Given the description of an element on the screen output the (x, y) to click on. 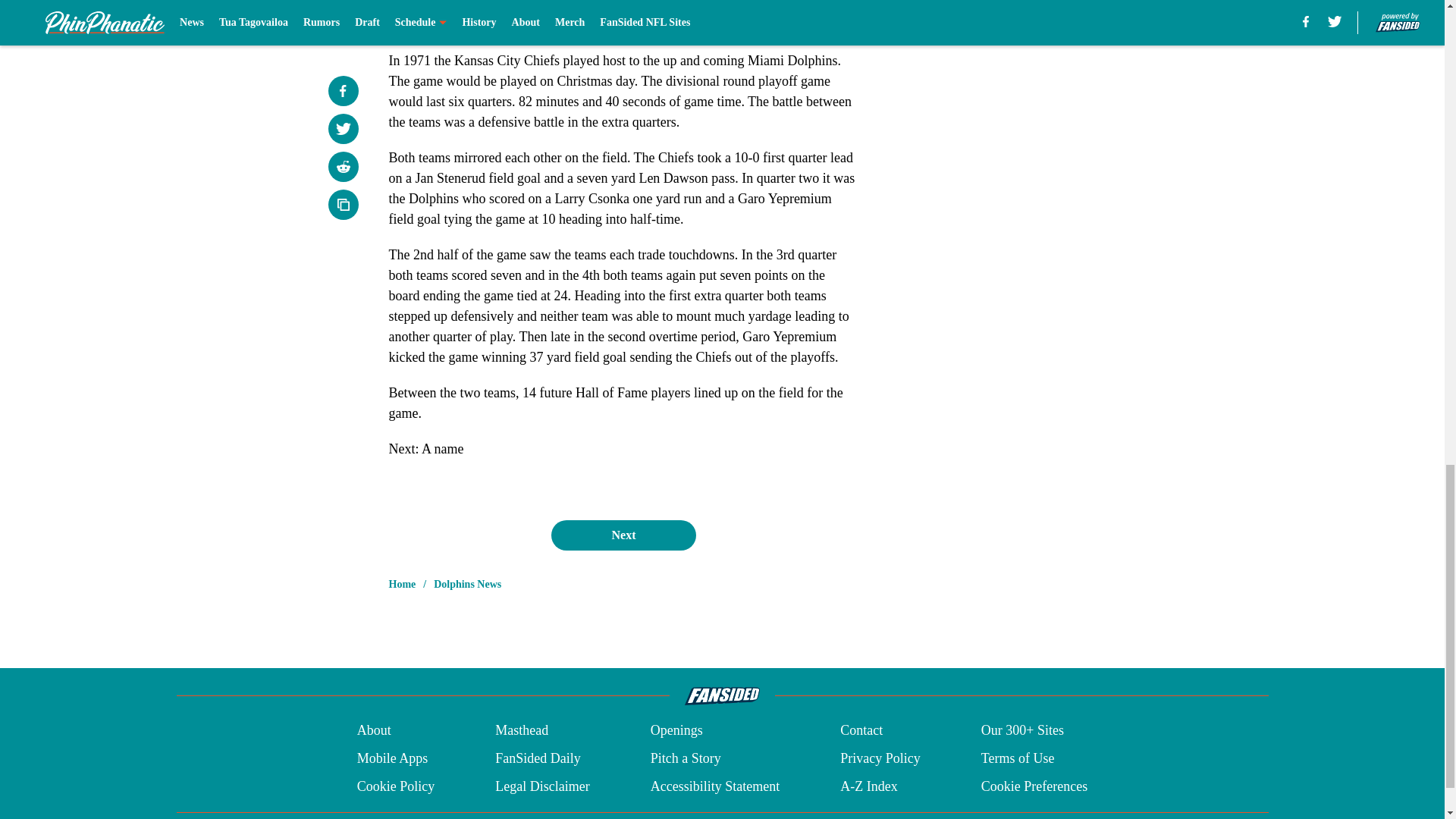
Contact (861, 730)
Pitch a Story (685, 758)
Openings (676, 730)
Dolphins News (466, 584)
FanSided Daily (537, 758)
Legal Disclaimer (542, 786)
Masthead (521, 730)
About (373, 730)
Mobile Apps (392, 758)
Privacy Policy (880, 758)
Next (622, 535)
Terms of Use (1017, 758)
Home (401, 584)
Cookie Policy (395, 786)
